Given the description of an element on the screen output the (x, y) to click on. 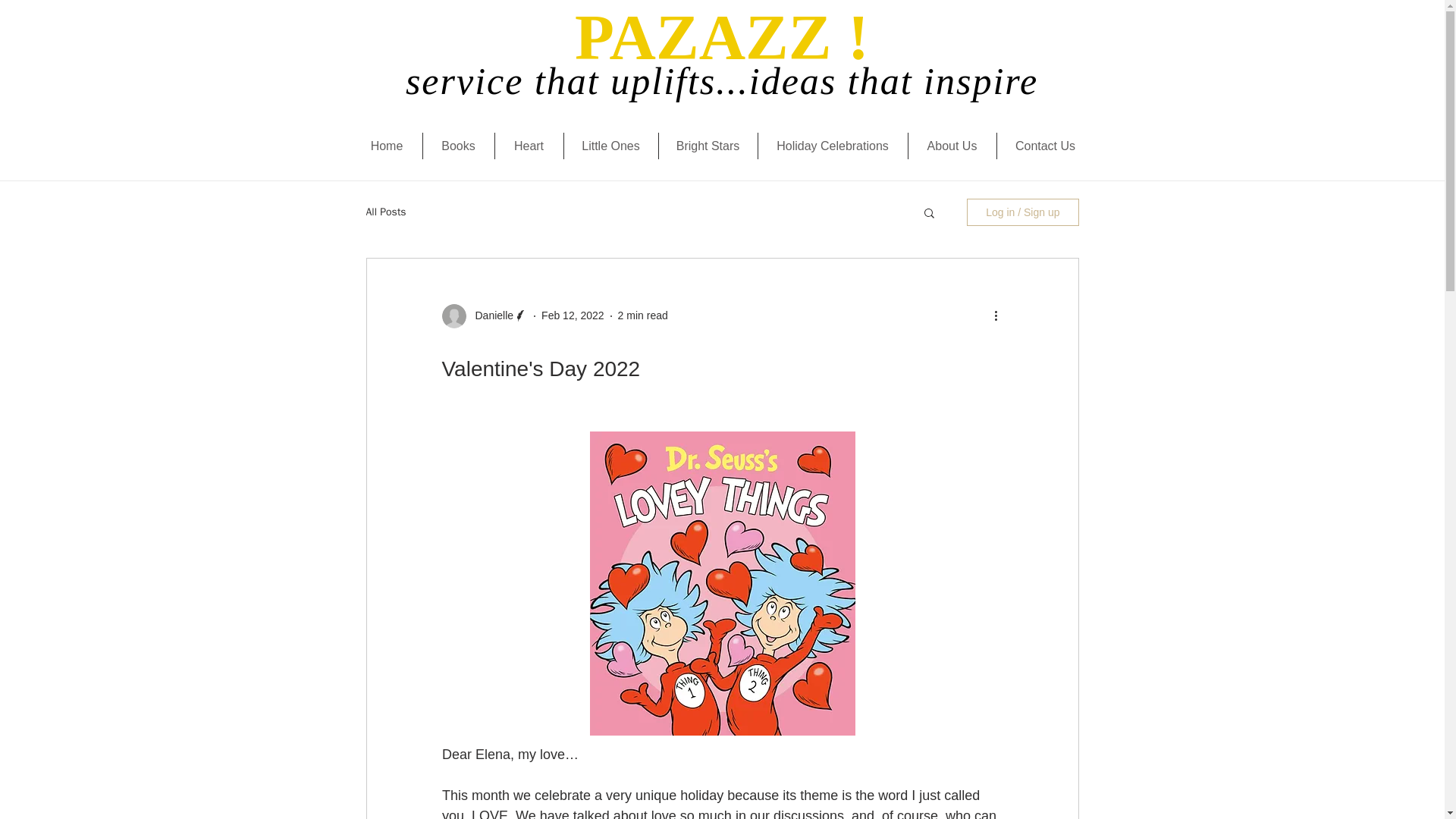
Heart (528, 145)
About Us (951, 145)
All Posts (385, 212)
Feb 12, 2022 (572, 315)
PAZAZZ ! (722, 36)
Danielle (489, 315)
Bright Stars (707, 145)
Home (387, 145)
2 min read (642, 315)
Contact Us (1044, 145)
Little Ones (611, 145)
Holiday Celebrations (832, 145)
Books (459, 145)
